Given the description of an element on the screen output the (x, y) to click on. 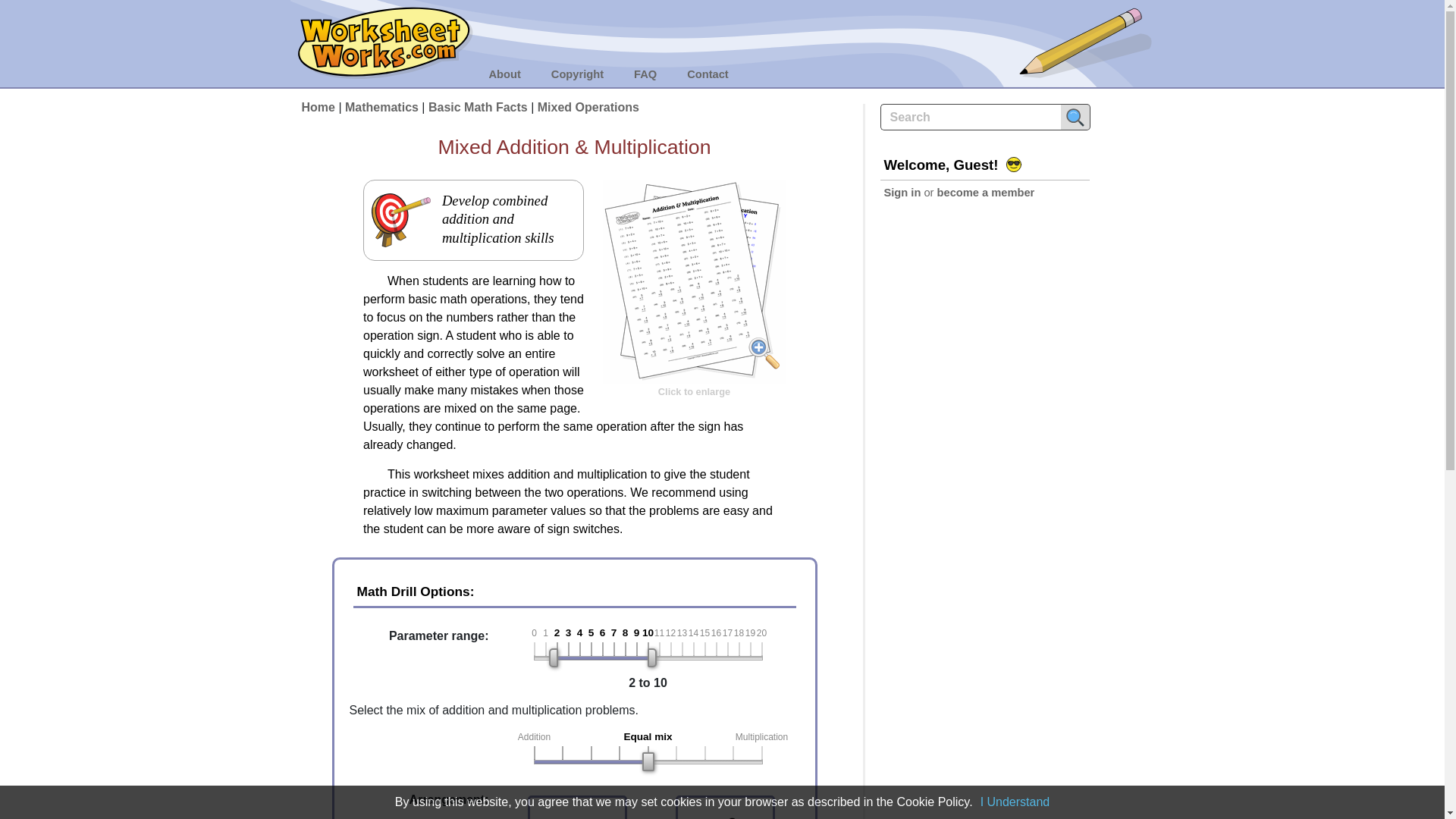
I Understand (1014, 801)
Home (317, 106)
FAQ (644, 73)
Contact (708, 73)
Click to enlarge (694, 336)
Copyright (577, 73)
Mixed Operations (588, 106)
Mathematics (382, 106)
Basic Math Facts (477, 106)
Sign in (902, 192)
